Given the description of an element on the screen output the (x, y) to click on. 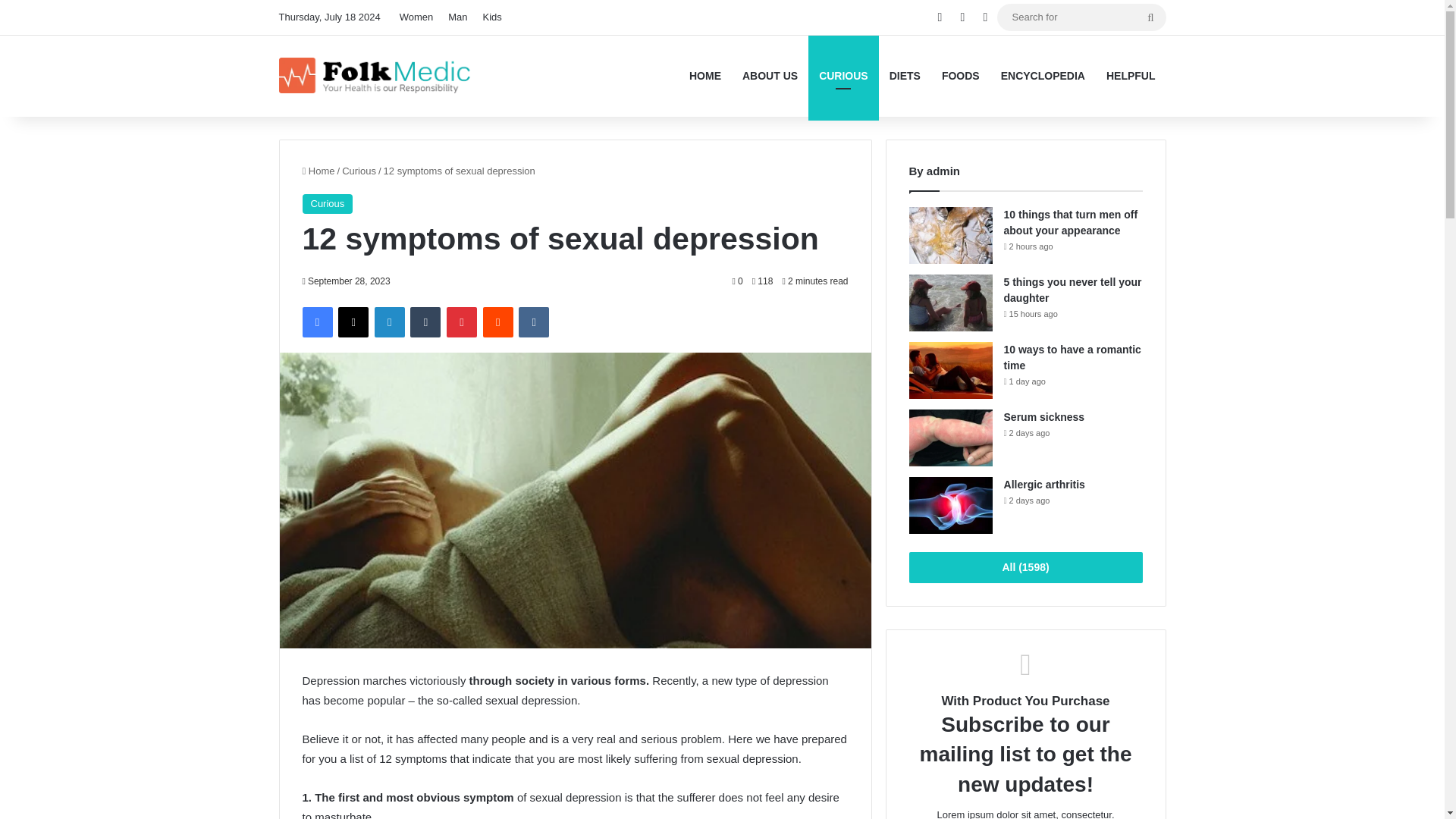
VKontakte (533, 322)
FolkMedic (376, 75)
Facebook (316, 322)
ENCYCLOPEDIA (1043, 76)
Reddit (498, 322)
Curious (326, 203)
Pinterest (461, 322)
Kids (492, 17)
VKontakte (533, 322)
ABOUT US (770, 76)
Tumblr (425, 322)
X (352, 322)
Facebook (316, 322)
Search for (1150, 17)
Pinterest (461, 322)
